Given the description of an element on the screen output the (x, y) to click on. 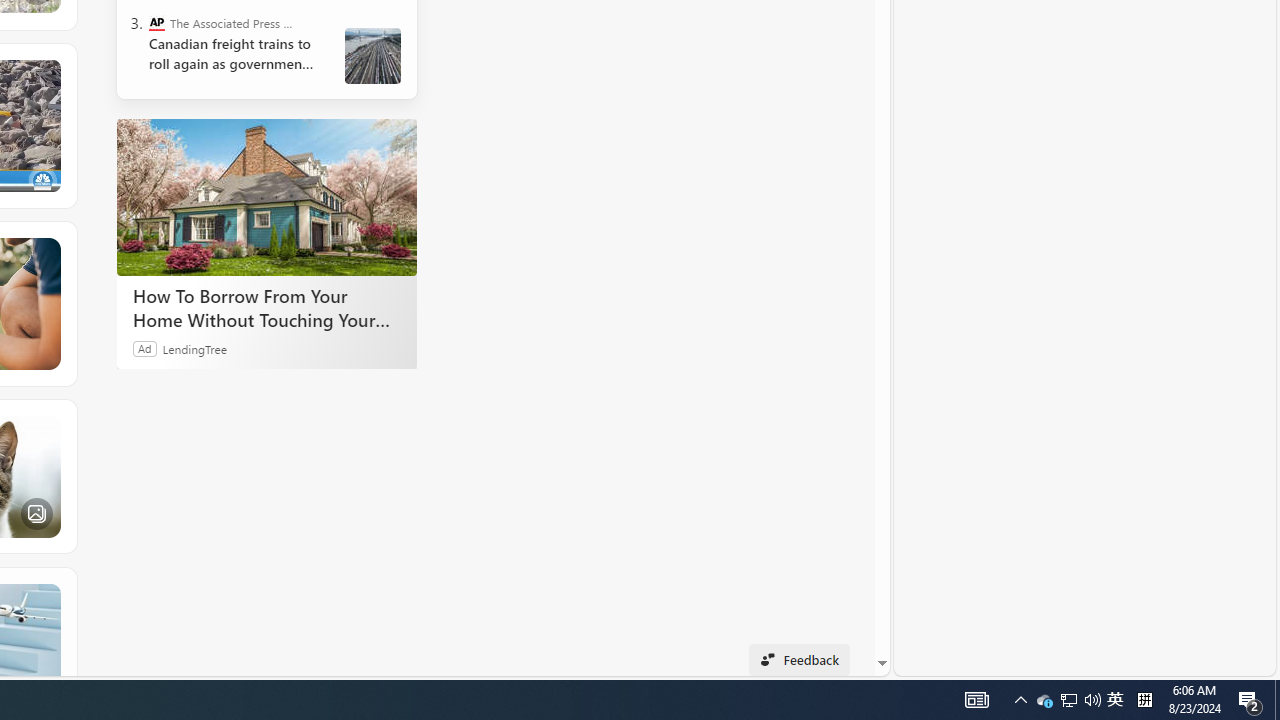
Darryl Dyck Canada Railroads Unions (372, 56)
The Associated Press - Business News (156, 22)
LendingTree (194, 348)
